Given the description of an element on the screen output the (x, y) to click on. 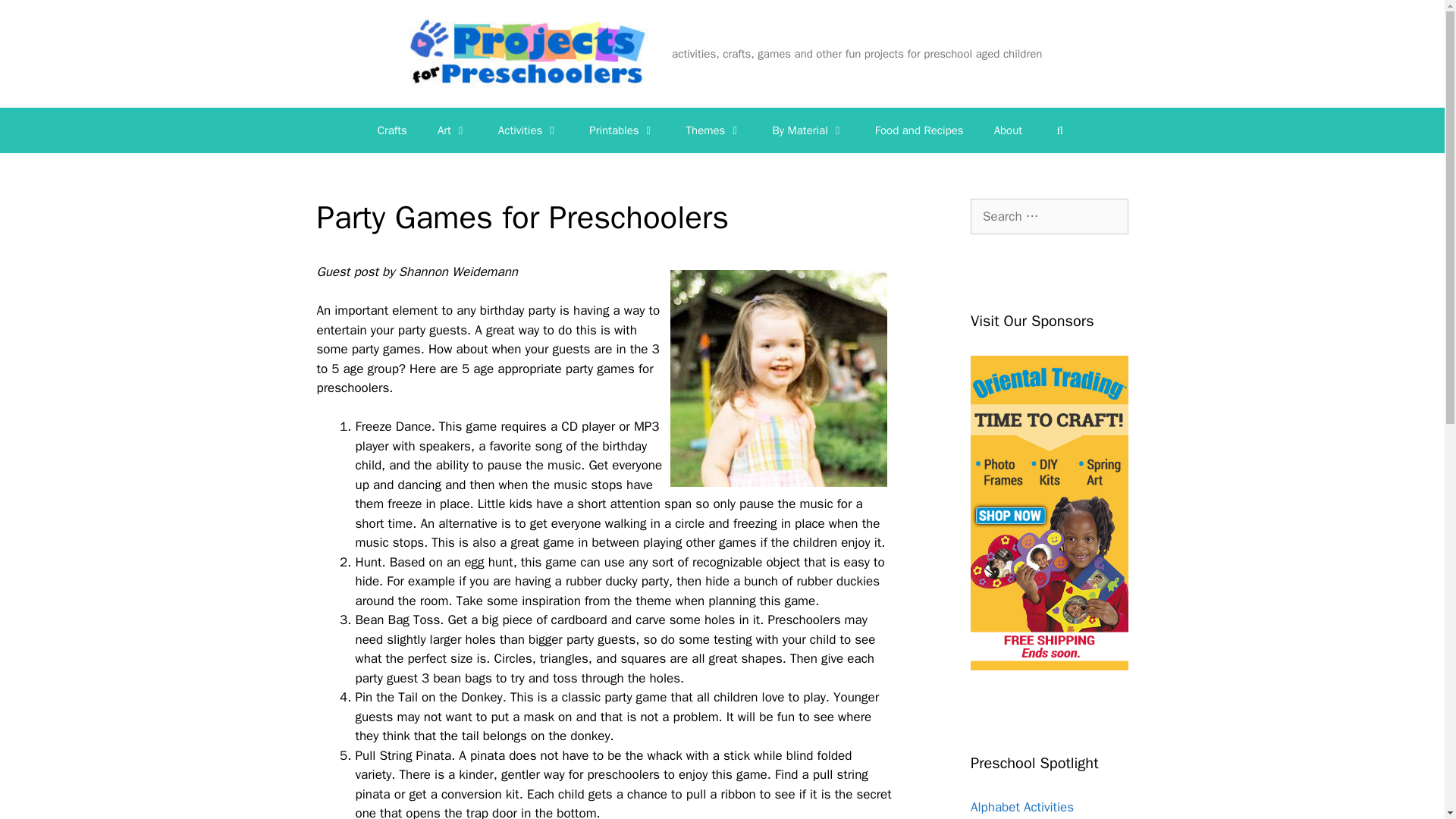
Crafts (392, 130)
Art (452, 130)
Printables (621, 130)
Search for: (1049, 217)
Activities (528, 130)
Themes (714, 130)
Party games for preschoolers (777, 378)
